Given the description of an element on the screen output the (x, y) to click on. 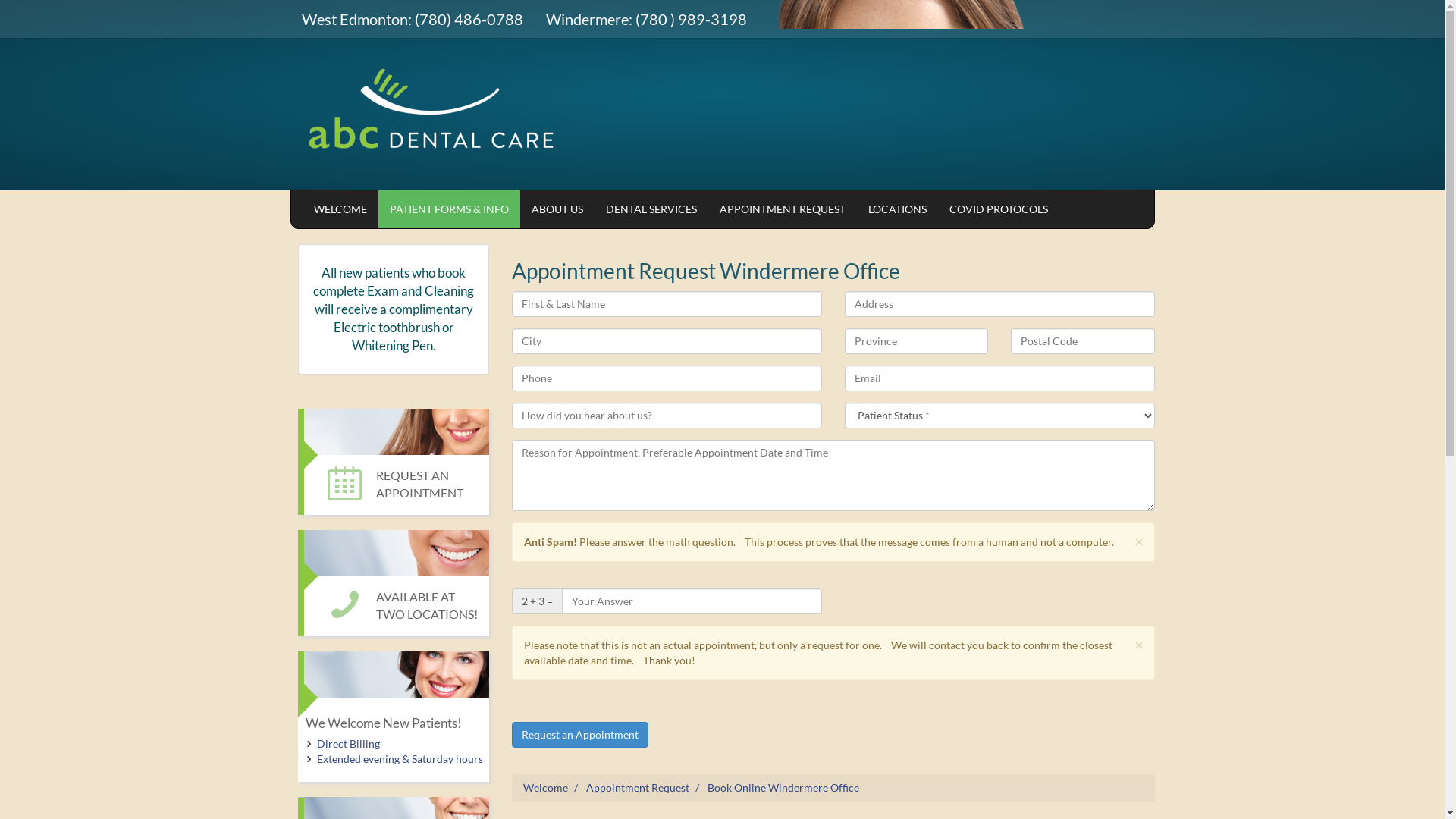
West Edmonton: (780) 486-0788 Element type: text (411, 18)
PATIENT FORMS & INFO Element type: text (448, 209)
APPOINTMENT REQUEST Element type: text (782, 209)
WELCOME Element type: text (339, 209)
Request an Appointment Element type: text (579, 734)
Appointment Request Element type: text (637, 787)
Welcome Element type: text (545, 787)
DENTAL SERVICES Element type: text (651, 209)
Windermere: (780 ) 989-3198 Element type: text (645, 18)
COVID PROTOCOLS Element type: text (997, 209)
Direct Billing Element type: text (347, 743)
Book Online Windermere Office Element type: text (783, 787)
Extended evening & Saturday hours Element type: text (399, 758)
LOCATIONS Element type: text (897, 209)
ABOUT US Element type: text (557, 209)
